Given the description of an element on the screen output the (x, y) to click on. 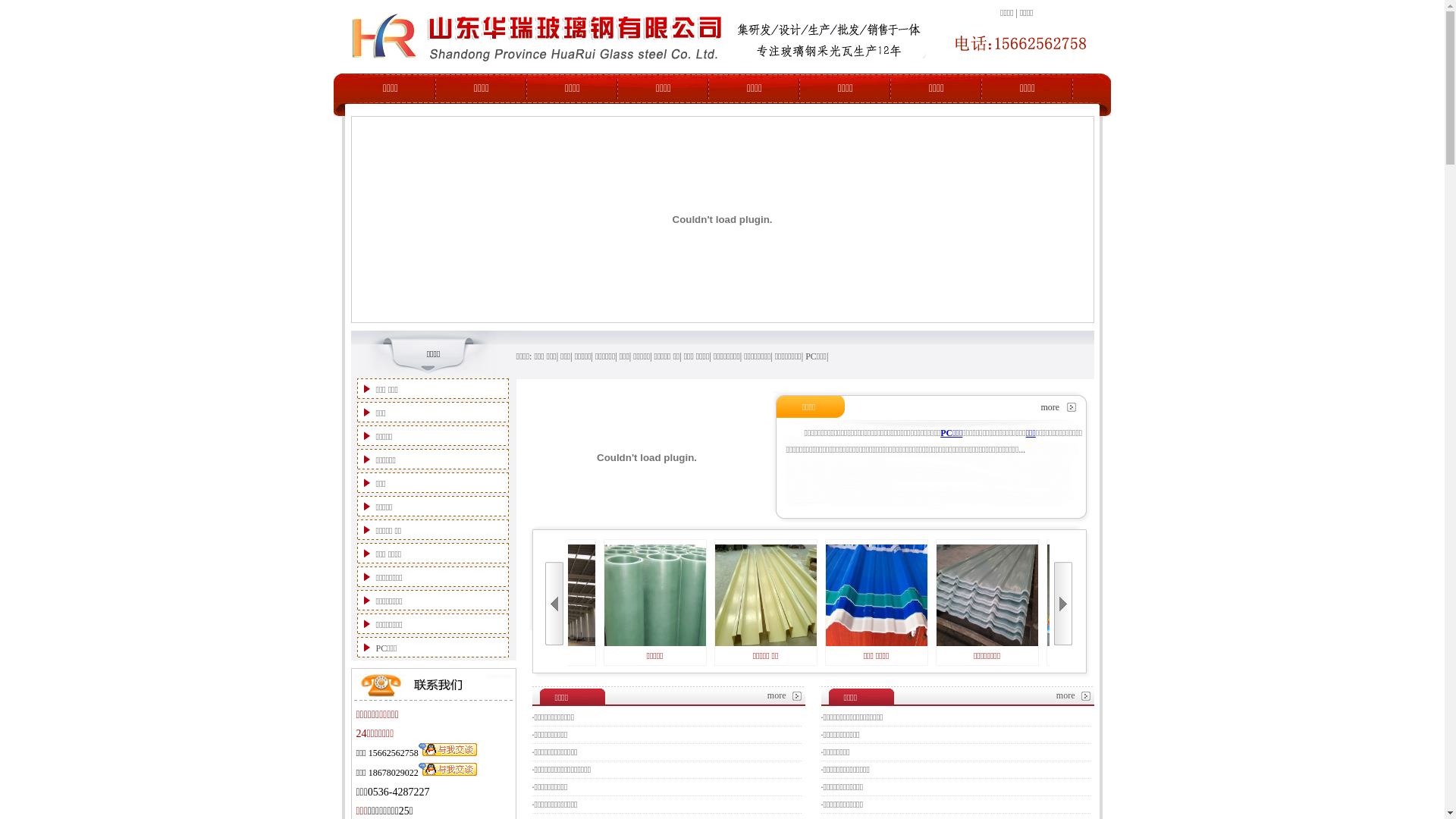
more Element type: text (776, 695)
more Element type: text (1065, 695)
more Element type: text (1049, 406)
